Given the description of an element on the screen output the (x, y) to click on. 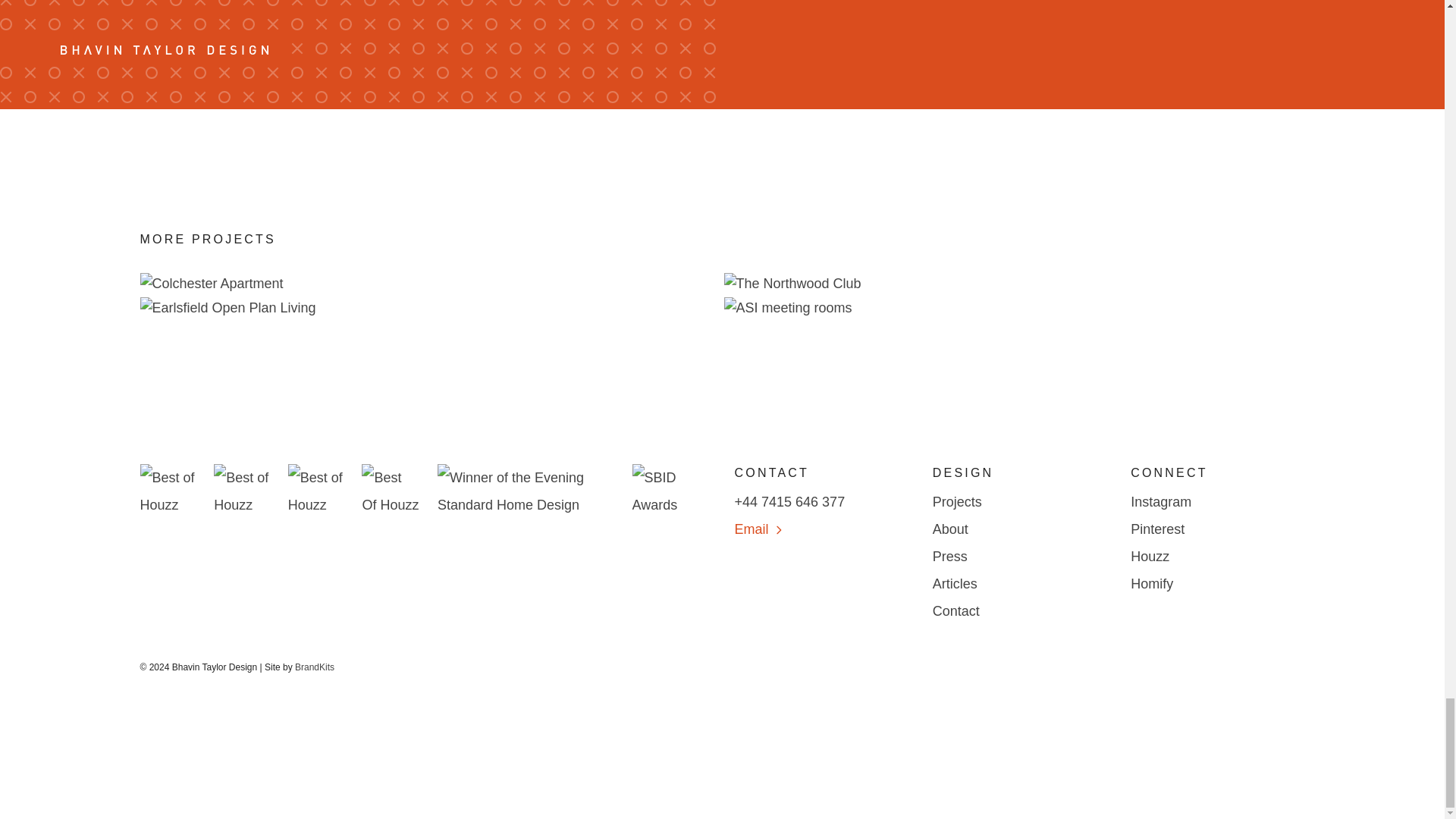
Contact (1019, 610)
Press (1019, 556)
Email (820, 528)
About (1019, 528)
Pinterest (1217, 528)
Articles (1019, 583)
Homify (1217, 583)
Houzz (1217, 556)
Instagram (1217, 501)
BrandKits (314, 666)
